Given the description of an element on the screen output the (x, y) to click on. 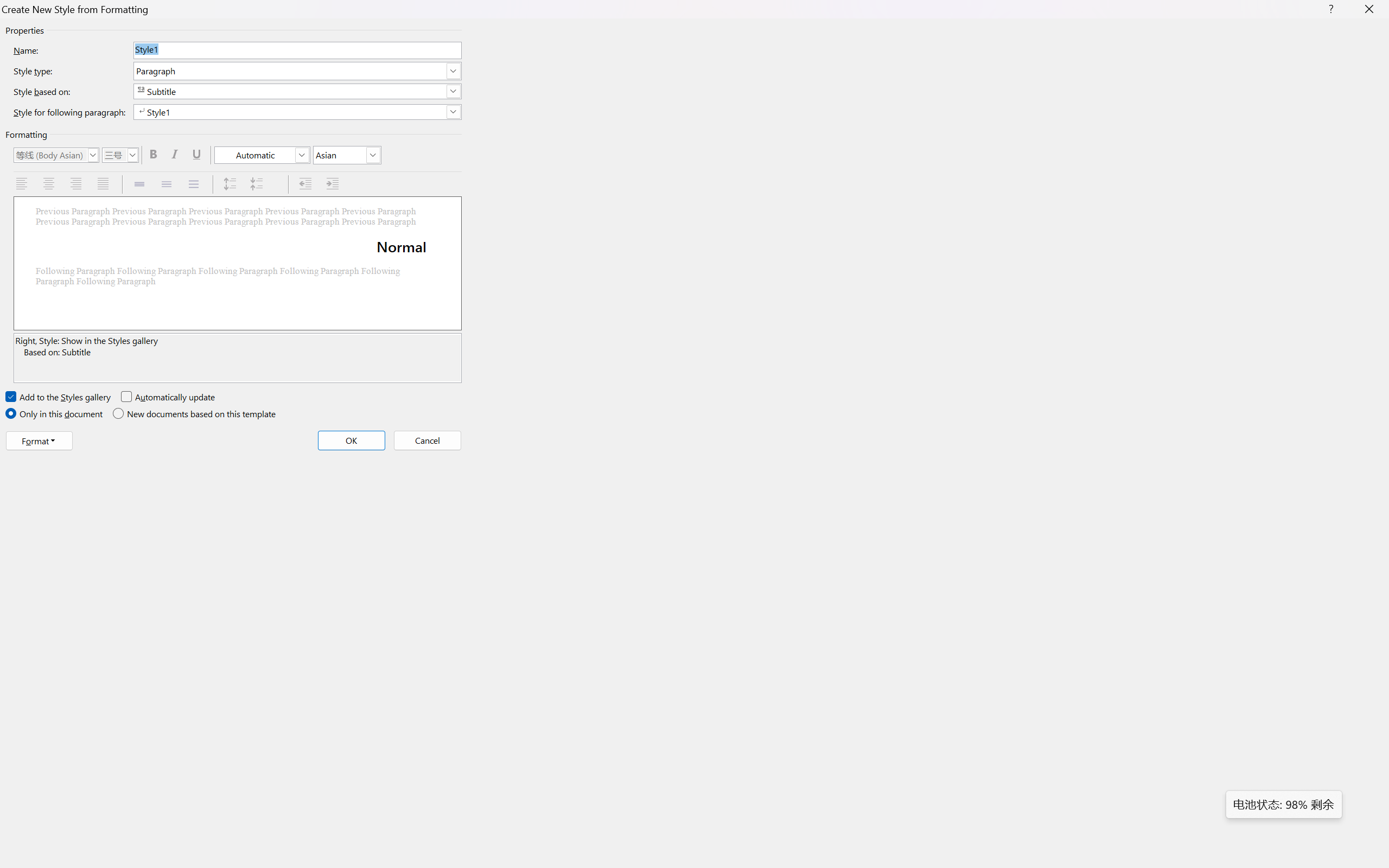
Formatting script (346, 154)
Increase Indent (334, 183)
Decrease Paragraph Spacing (258, 183)
